Given the description of an element on the screen output the (x, y) to click on. 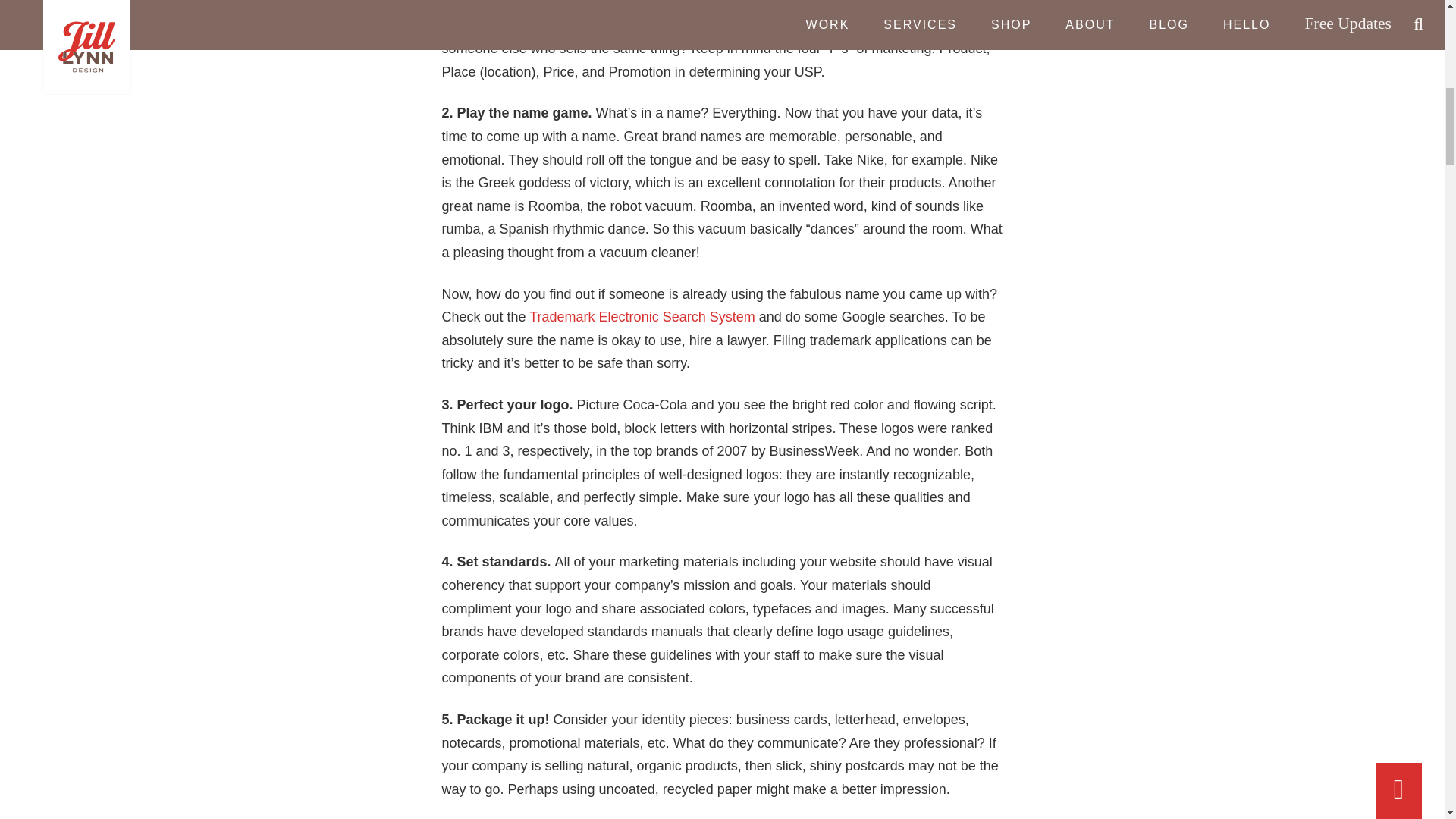
Trademark Electronic Search System (641, 316)
